Given the description of an element on the screen output the (x, y) to click on. 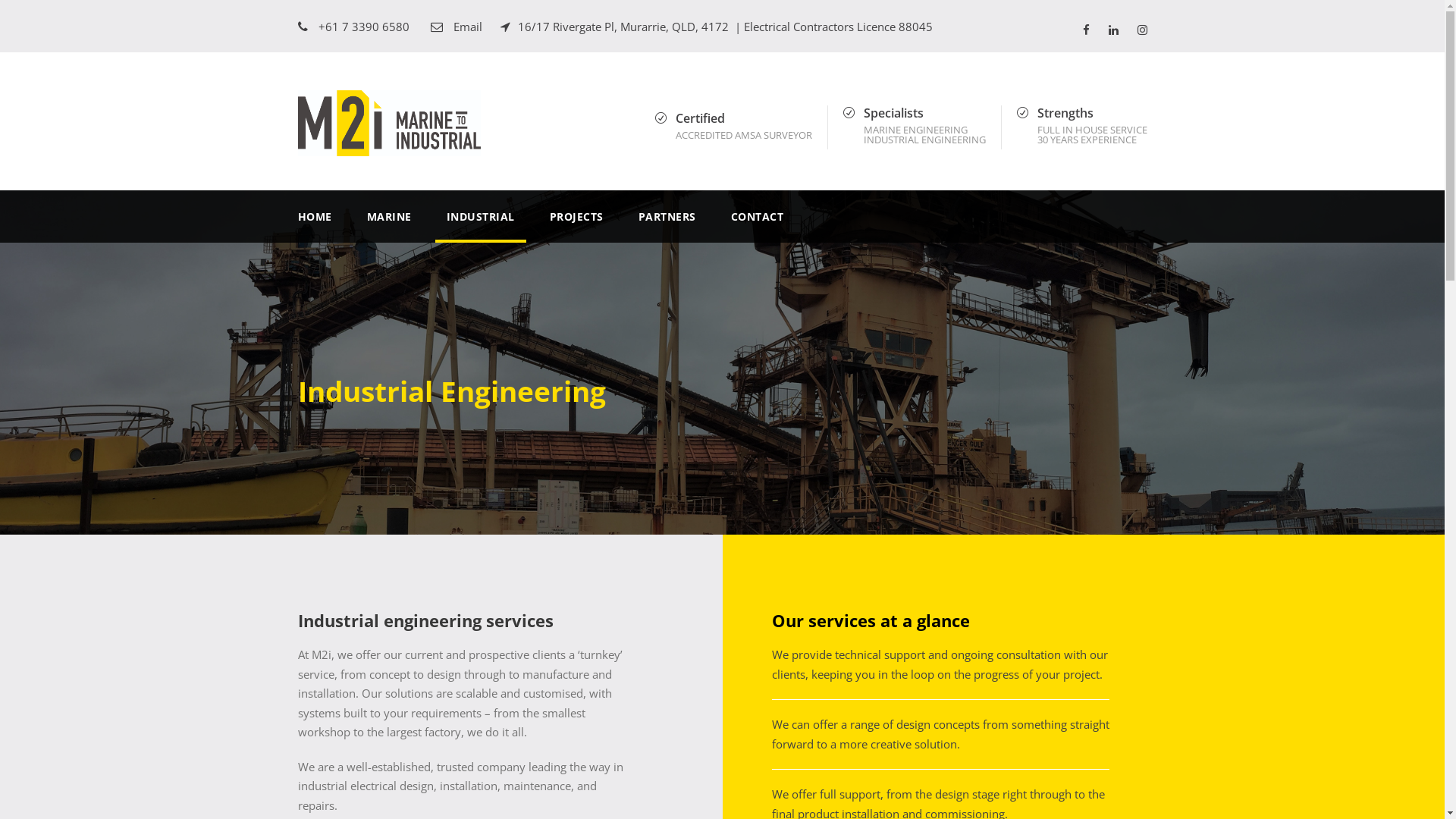
linkedin Element type: hover (1113, 29)
PARTNERS Element type: text (667, 225)
HOME Element type: text (314, 225)
instagram Element type: hover (1142, 29)
Email Element type: text (467, 26)
INDUSTRIAL Element type: text (479, 225)
facebook Element type: hover (1085, 29)
CONTACT Element type: text (757, 225)
MARINE Element type: text (389, 225)
PROJECTS Element type: text (575, 225)
